Given the description of an element on the screen output the (x, y) to click on. 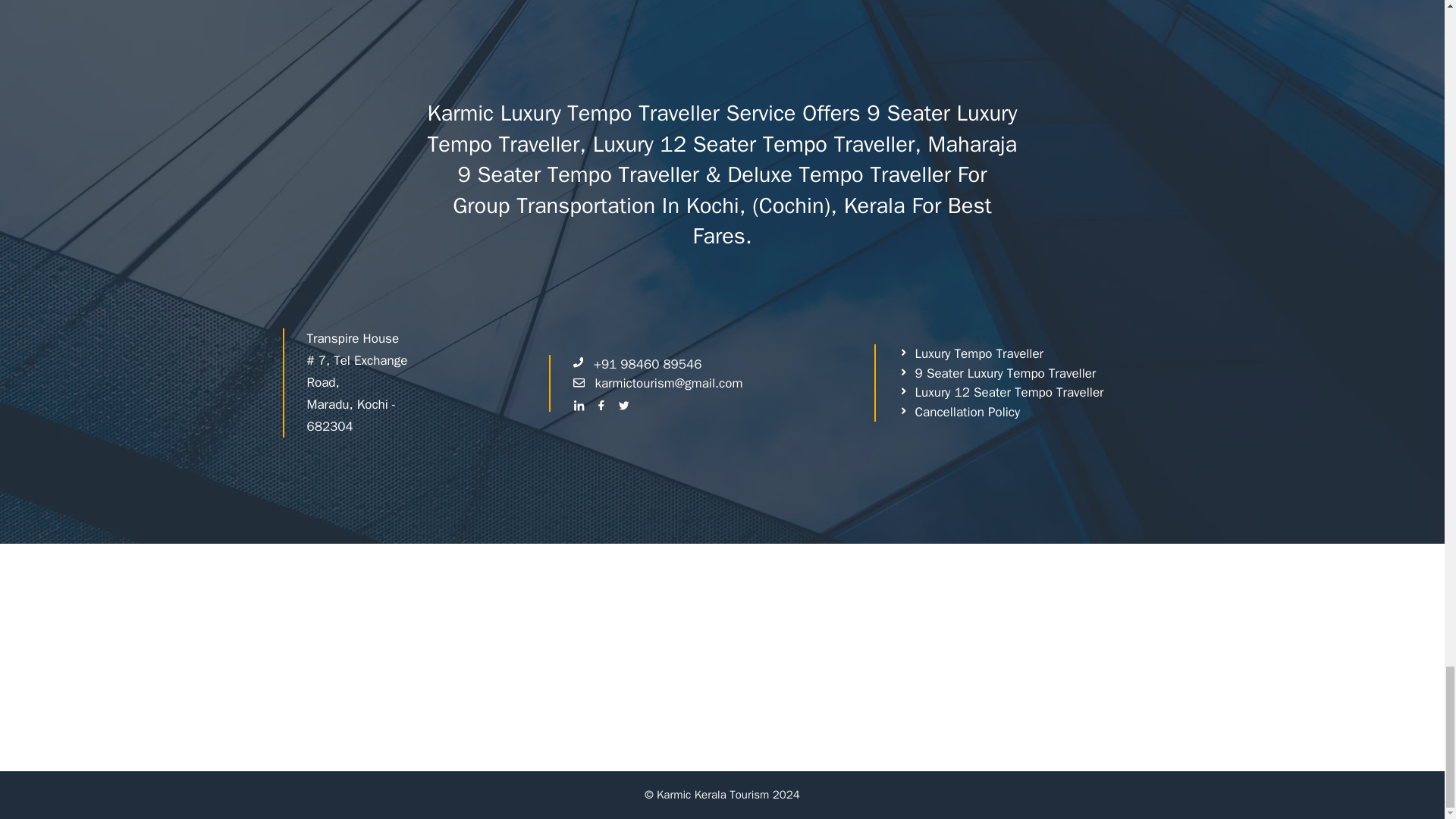
Luxury Tempo Traveller (970, 353)
Cancellation Policy (959, 412)
Luxury 12 Seater Tempo Traveller (1000, 392)
9 Seater Luxury Tempo Traveller (997, 373)
